Given the description of an element on the screen output the (x, y) to click on. 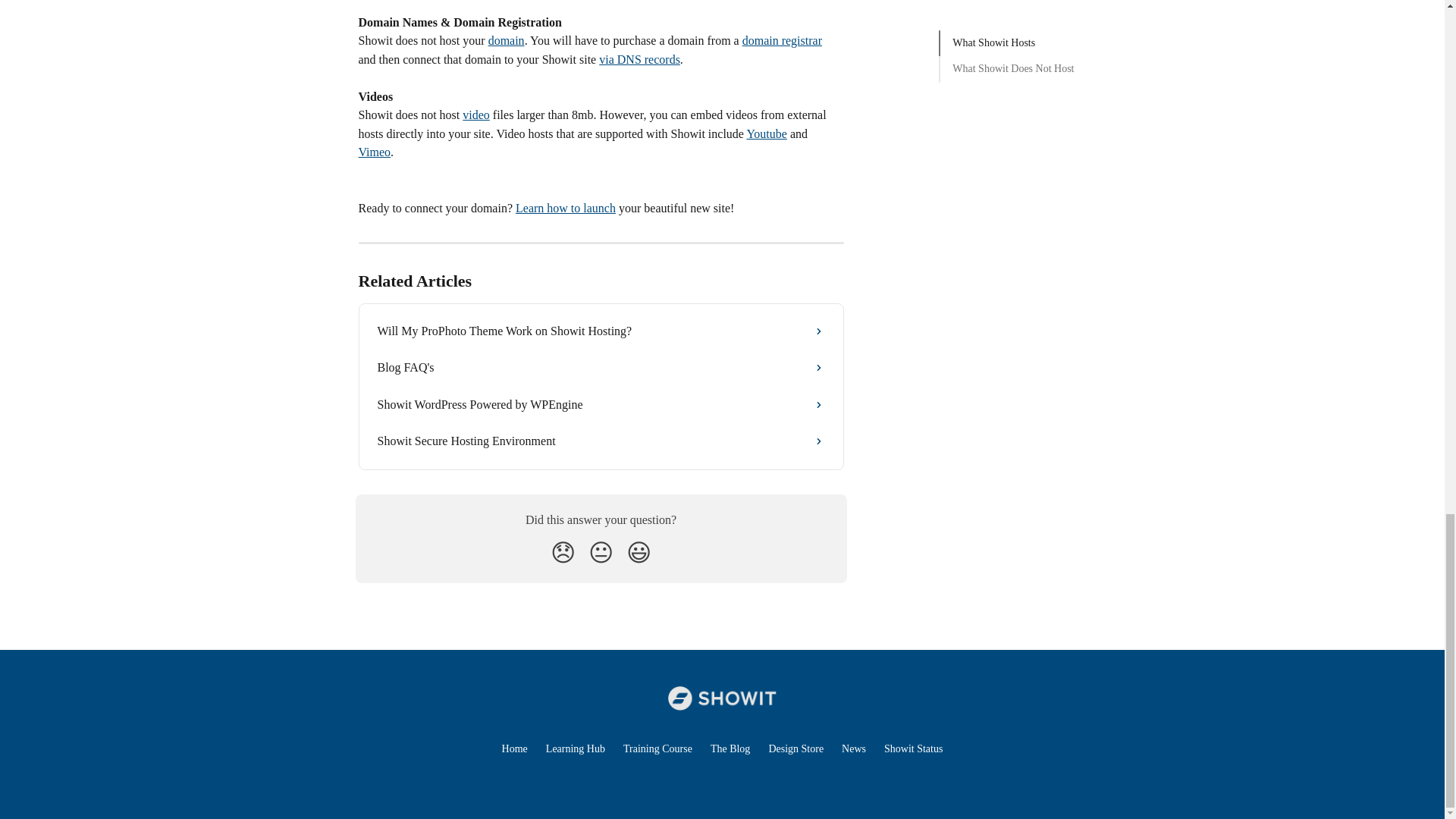
Blog FAQ's (601, 367)
The Blog (730, 748)
Youtube (766, 133)
domain (505, 40)
Learning Hub (575, 748)
domain registrar (782, 40)
video (476, 114)
Home (514, 748)
Neutral (600, 552)
Disappointed (562, 552)
